Given the description of an element on the screen output the (x, y) to click on. 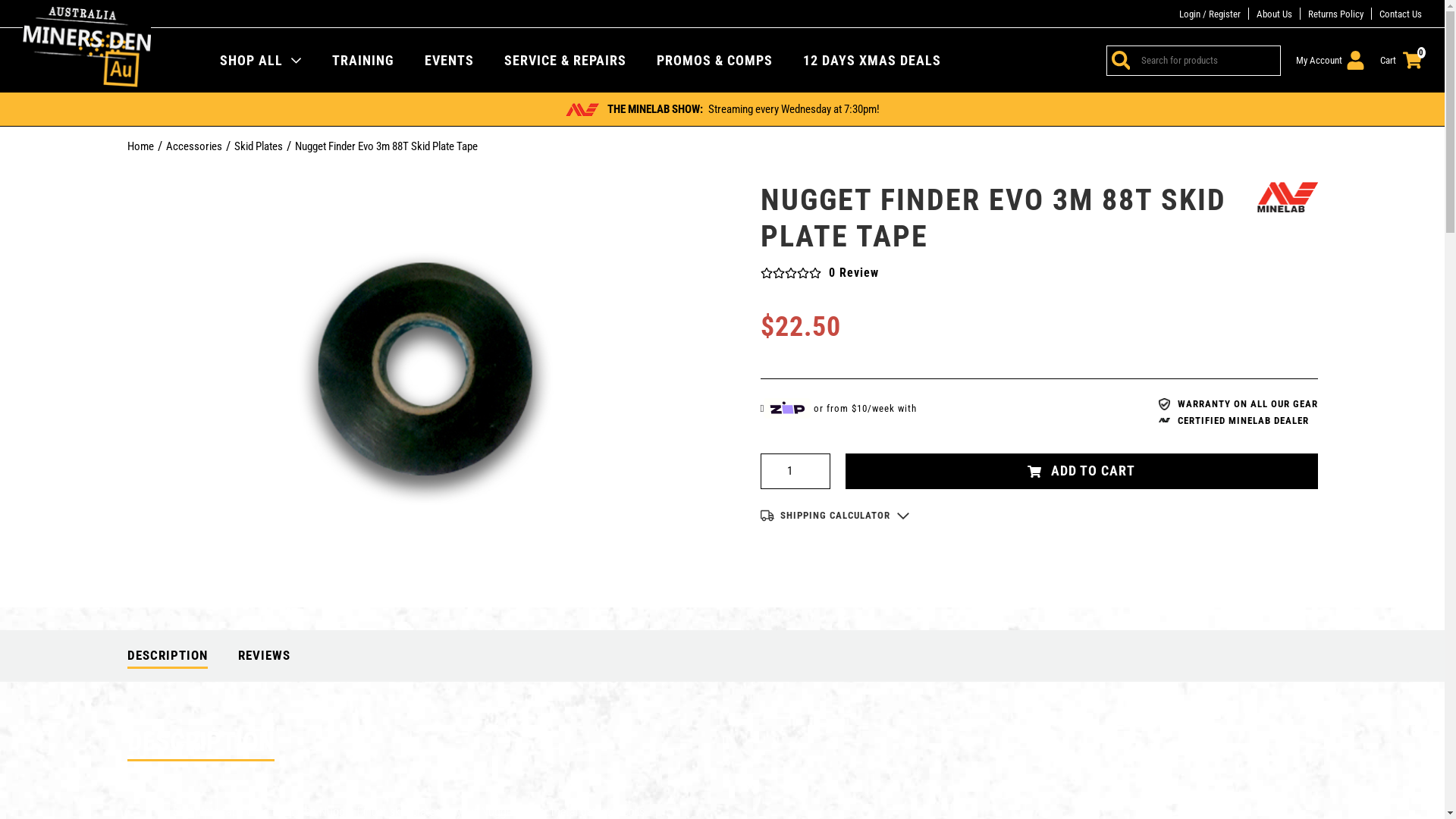
Skid Plates Element type: text (257, 146)
ADD TO CART Element type: text (1080, 471)
Contact Us Element type: text (1400, 13)
PROMOS & COMPS Element type: text (714, 59)
THE MINELAB SHOW:
Streaming every Wednesday at 7:30pm! Element type: text (722, 108)
EVENTS Element type: text (448, 59)
Login / Register Element type: text (1209, 13)
Home Element type: text (140, 146)
TRAINING Element type: text (363, 59)
SERVICE & REPAIRS Element type: text (565, 59)
Nugget Finder Evo 3m 88T Skid Plate Tape Element type: text (385, 146)
About Us Element type: text (1274, 13)
Search Element type: text (1118, 59)
Returns Policy Element type: text (1335, 13)
12 DAYS XMAS DEALS Element type: text (872, 59)
My Account Element type: text (1330, 59)
Accessories Element type: text (193, 146)
